Given the description of an element on the screen output the (x, y) to click on. 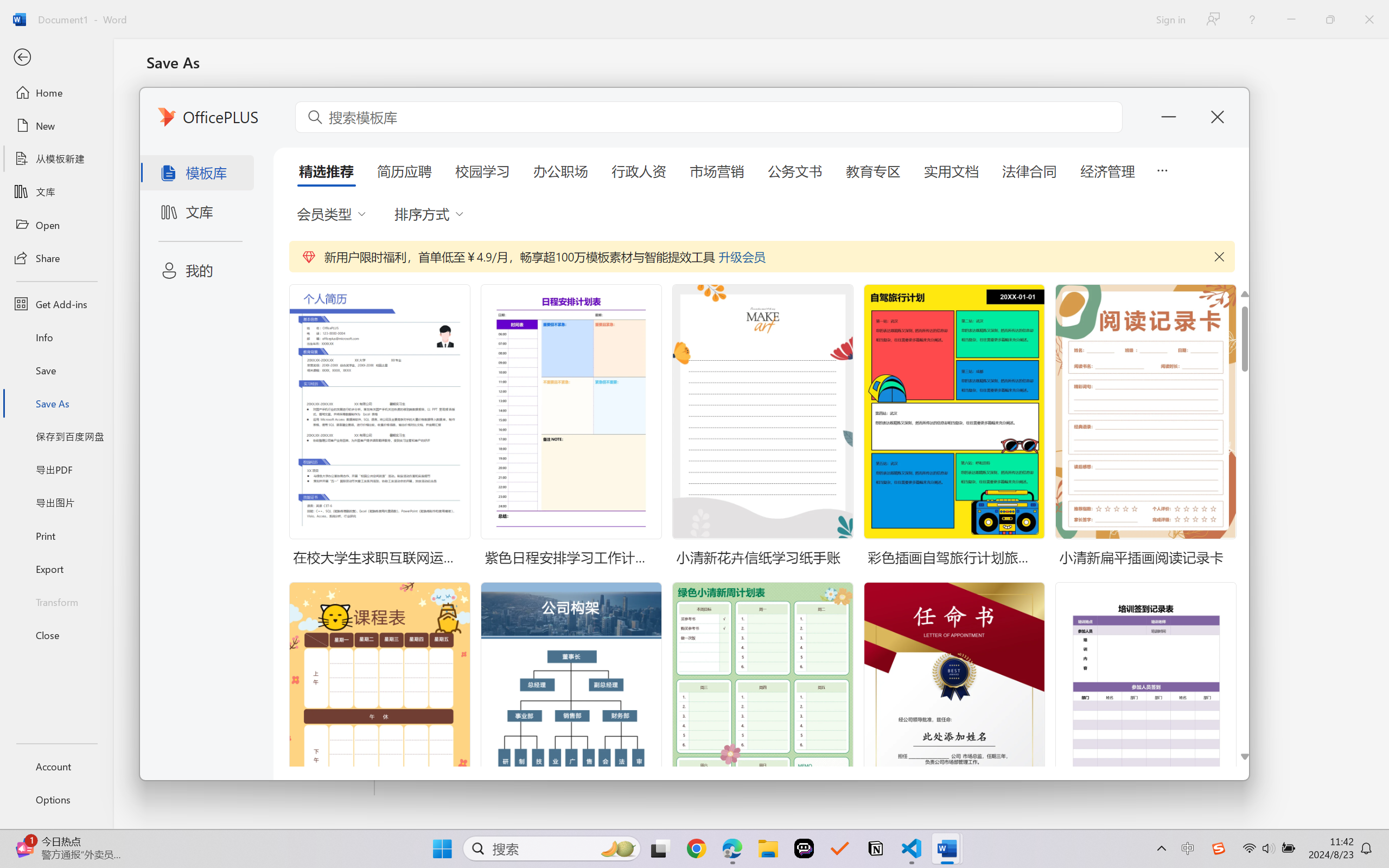
Save As (56, 403)
Options (56, 798)
Transform (56, 601)
Print (56, 535)
